Given the description of an element on the screen output the (x, y) to click on. 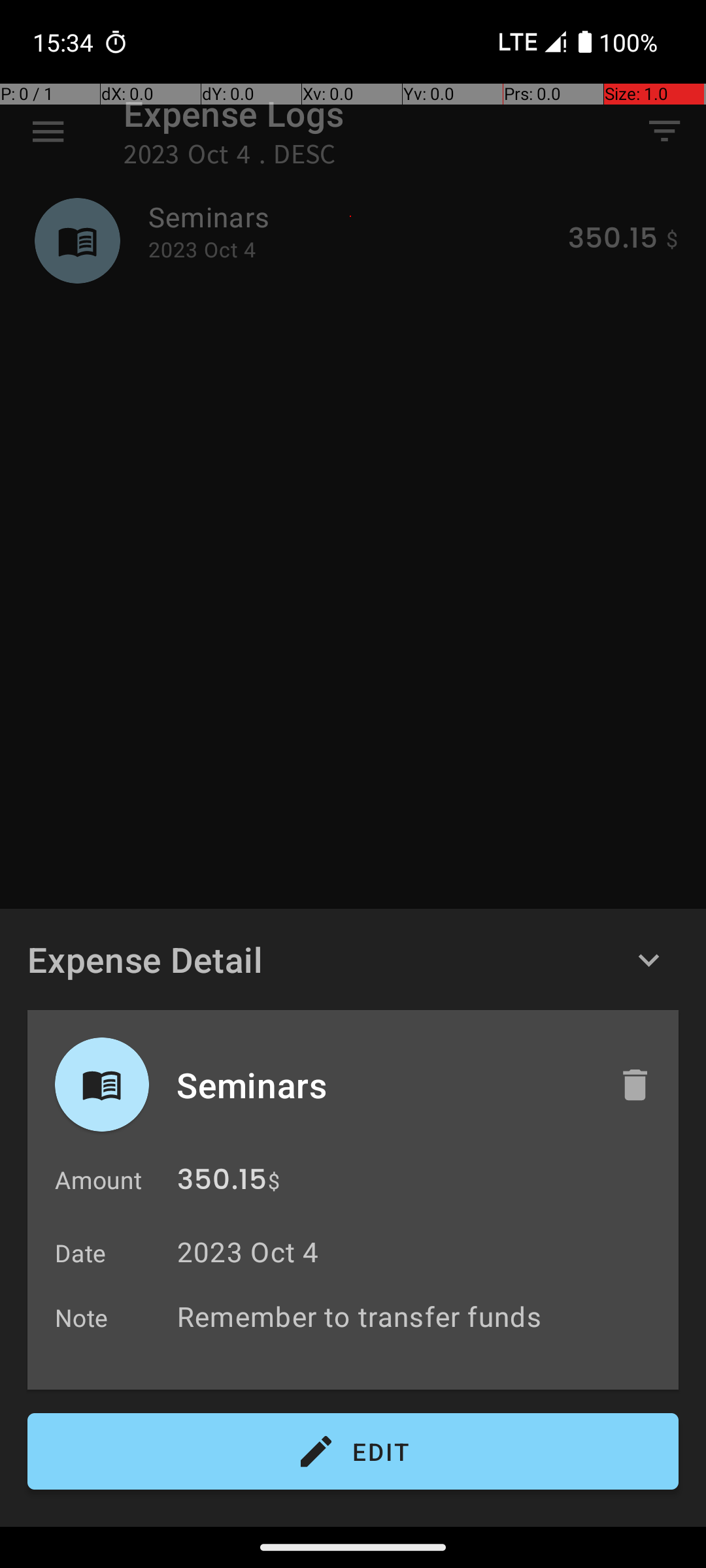
Seminars Element type: android.widget.TextView (383, 1084)
350.15 Element type: android.widget.TextView (221, 1182)
2023 Oct 4 Element type: android.widget.TextView (247, 1251)
